Given the description of an element on the screen output the (x, y) to click on. 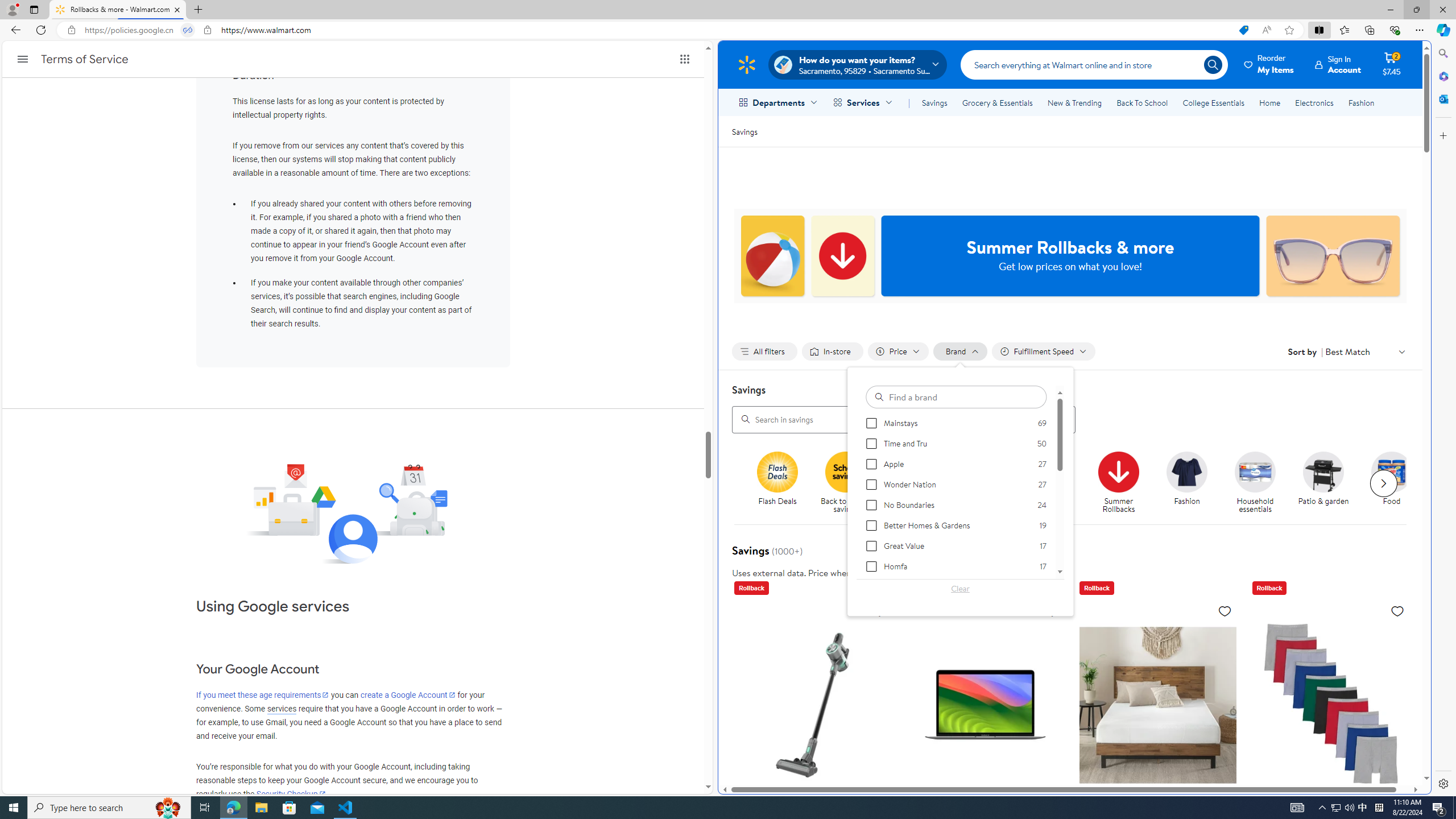
Back to college savings (917, 483)
Close Search pane (1442, 53)
Grocery & Essentials (997, 102)
Fashion Fashion (1187, 478)
Grocery & Essentials (997, 102)
Flash Deals (782, 483)
Search in savings (903, 419)
Class: ld ld-ChevronDown pa0 ml6 (1401, 351)
Back to College savings Back to college savings (913, 483)
Savings (744, 131)
